Given the description of an element on the screen output the (x, y) to click on. 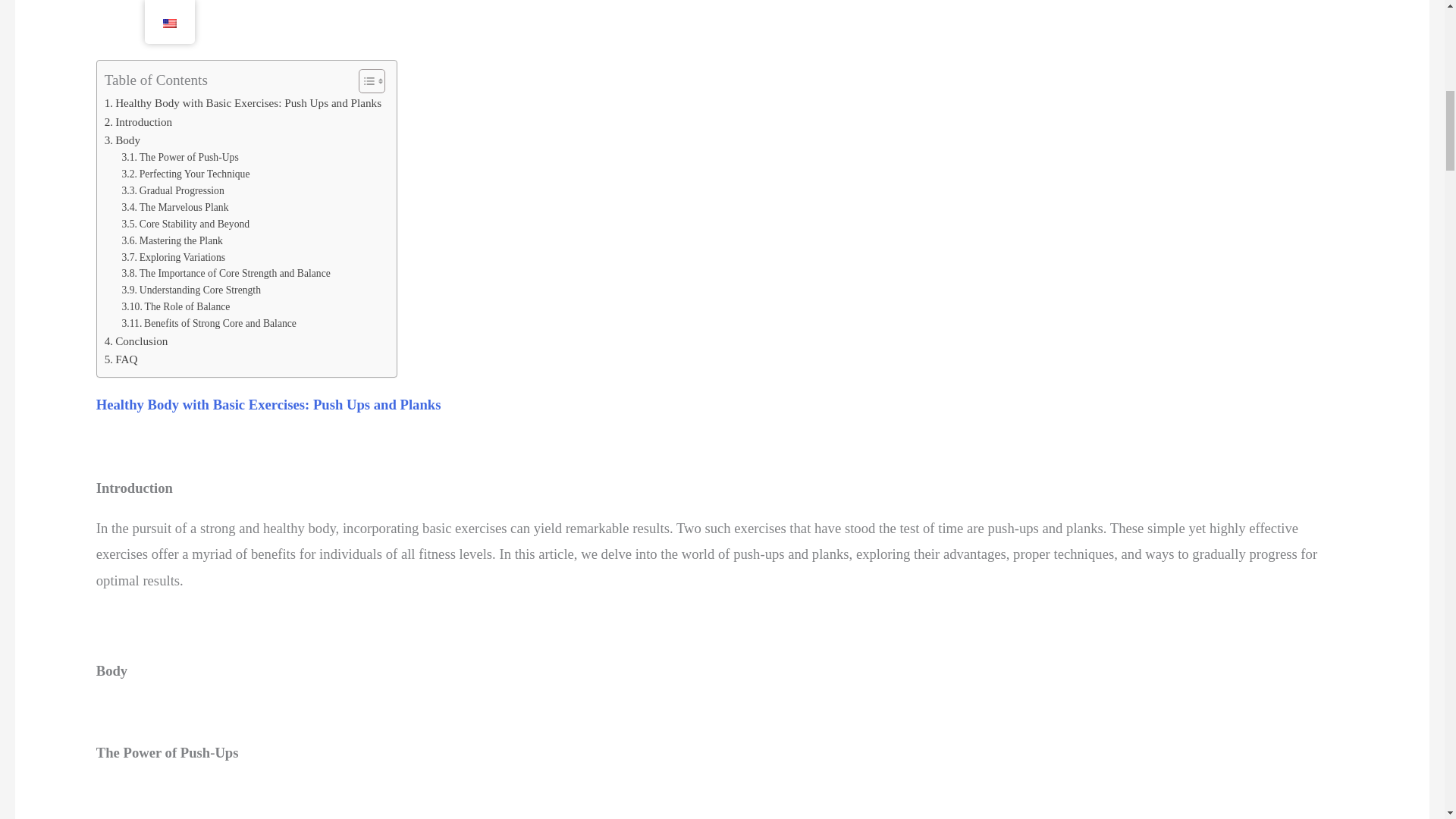
Exploring Variations (173, 257)
Perfecting Your Technique (186, 174)
Exploring Variations (173, 257)
Understanding Core Strength (192, 289)
Introduction (138, 122)
The Role of Balance (176, 306)
Healthy Body with Basic Exercises: Push Ups and Planks (242, 103)
Mastering the Plank (172, 240)
Healthy Body with Basic Exercises: Push Ups and Planks (268, 402)
FAQ (121, 359)
Gradual Progression (173, 190)
Mastering the Plank (172, 240)
The Marvelous Plank (175, 207)
The Importance of Core Strength and Balance (226, 273)
Core Stability and Beyond (186, 224)
